Given the description of an element on the screen output the (x, y) to click on. 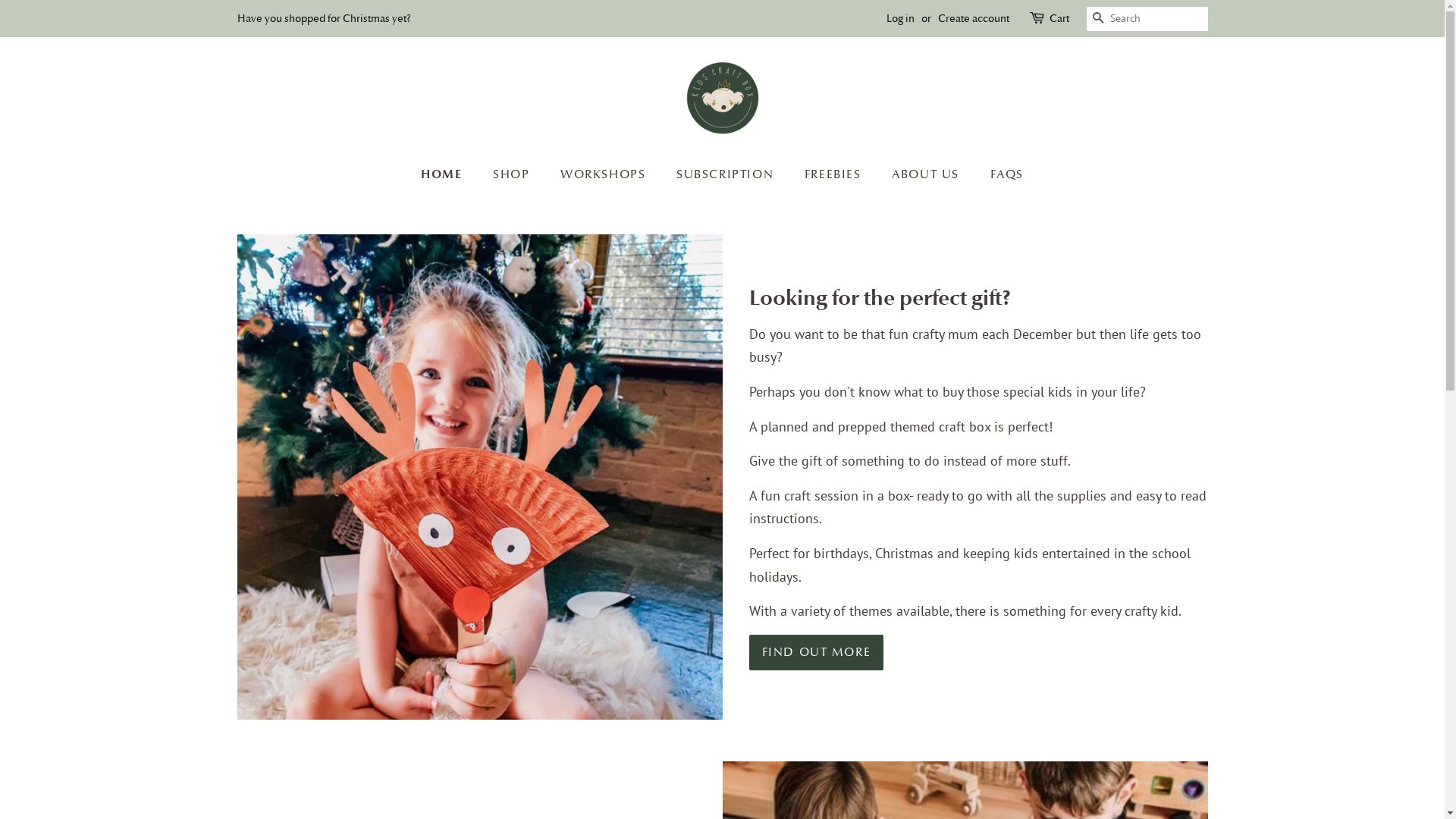
SEARCH Element type: text (1097, 18)
FREEBIES Element type: text (834, 174)
Create account Element type: text (972, 18)
ABOUT US Element type: text (927, 174)
FAQS Element type: text (1001, 174)
FIND OUT MORE Element type: text (816, 652)
SHOP Element type: text (512, 174)
Log in Element type: text (899, 18)
WORKSHOPS Element type: text (604, 174)
SUBSCRIPTION Element type: text (726, 174)
Cart Element type: text (1059, 18)
HOME Element type: text (448, 173)
